Given the description of an element on the screen output the (x, y) to click on. 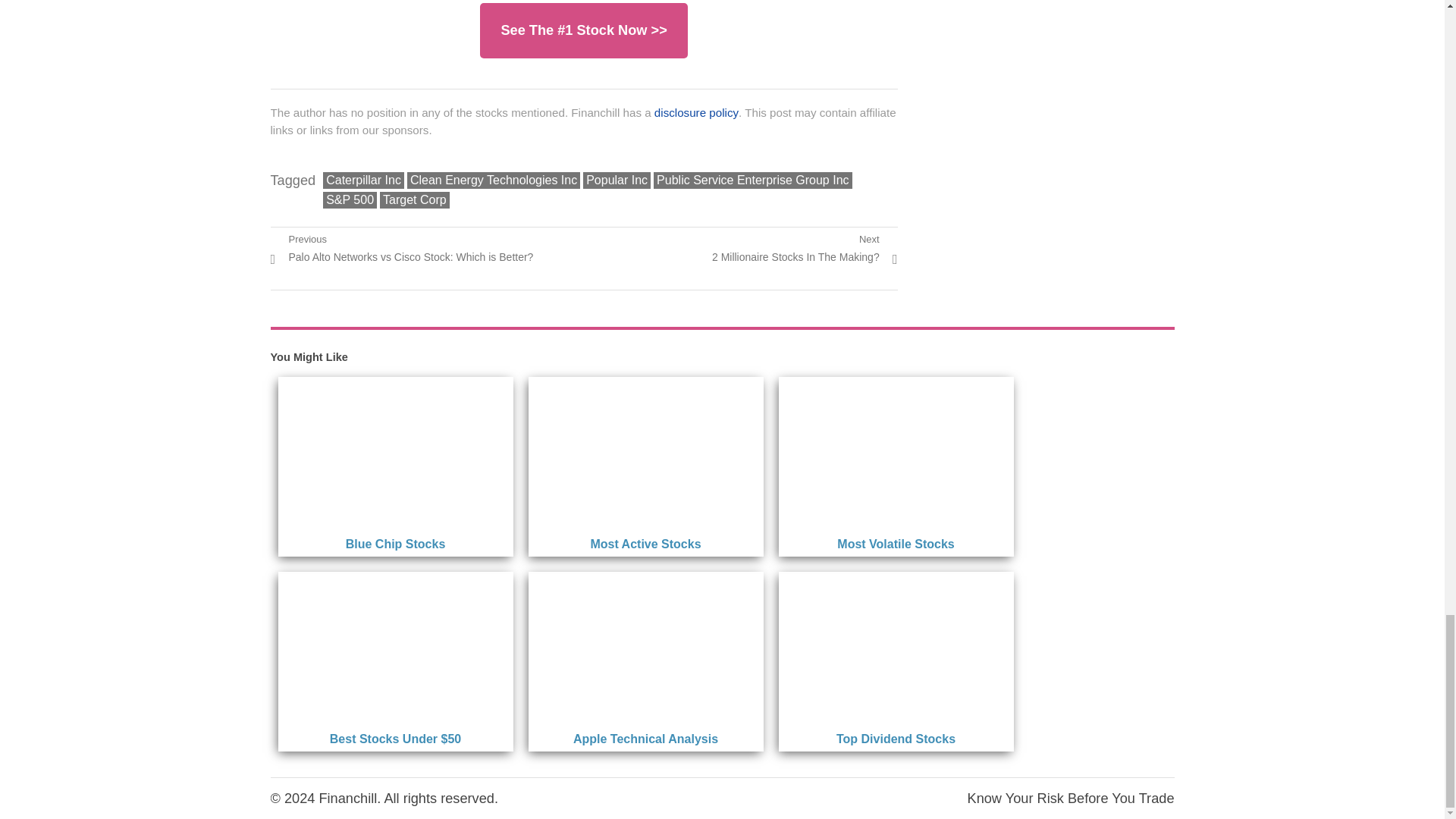
Popular Inc (616, 180)
Target Corp (804, 247)
Public Service Enterprise Group Inc (414, 199)
Caterpillar Inc (752, 180)
disclosure policy (363, 180)
Clean Energy Technologies Inc (695, 112)
